Given the description of an element on the screen output the (x, y) to click on. 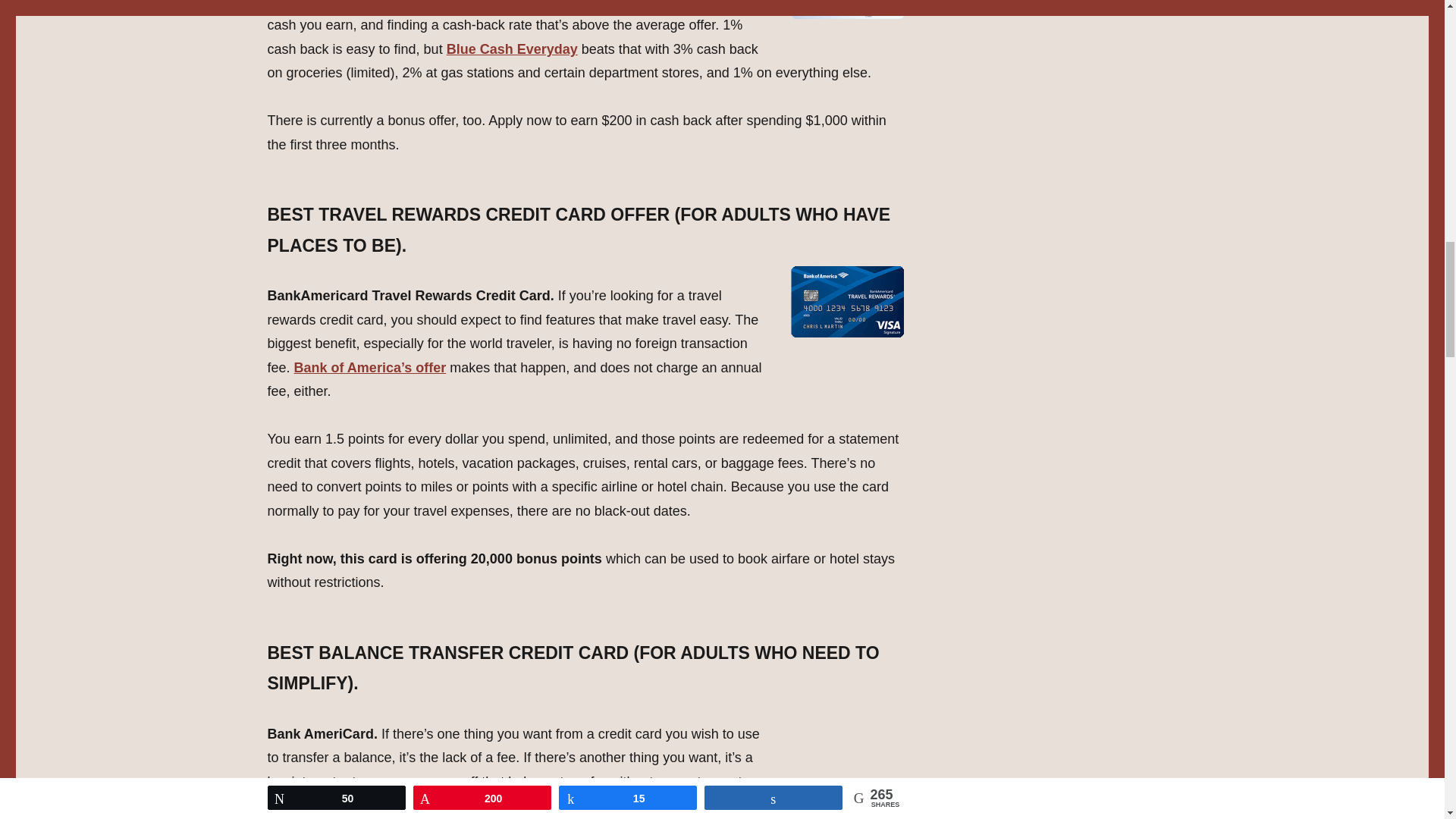
Blue Cash Everyday (512, 48)
BankAmericard (317, 805)
